Given the description of an element on the screen output the (x, y) to click on. 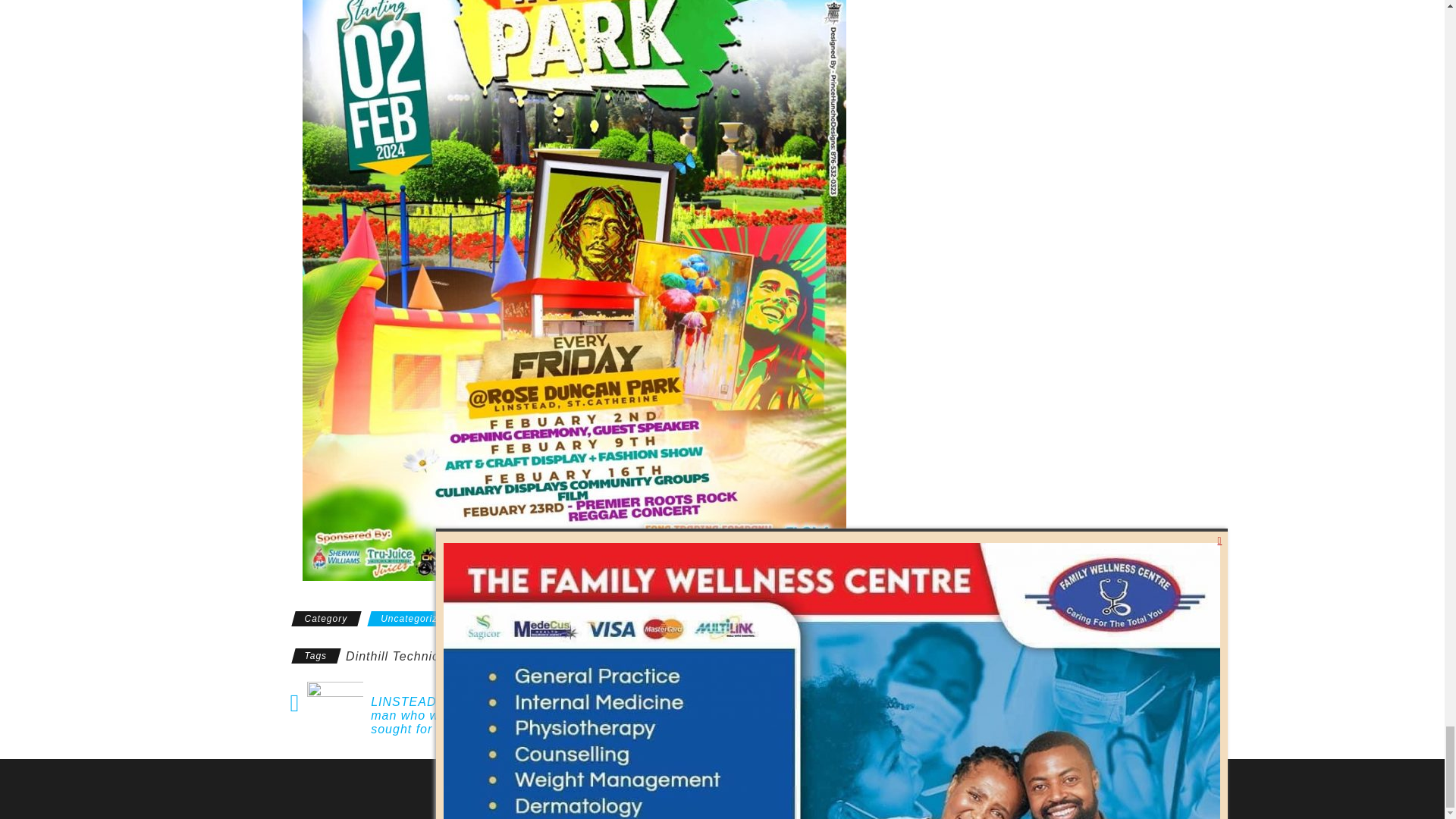
Xavier Gilbert (534, 653)
Uncategorized (414, 618)
LINSTEAD: Cops nab man who was being sought for rapes (454, 715)
Dinthill Technical High (413, 656)
